Given the description of an element on the screen output the (x, y) to click on. 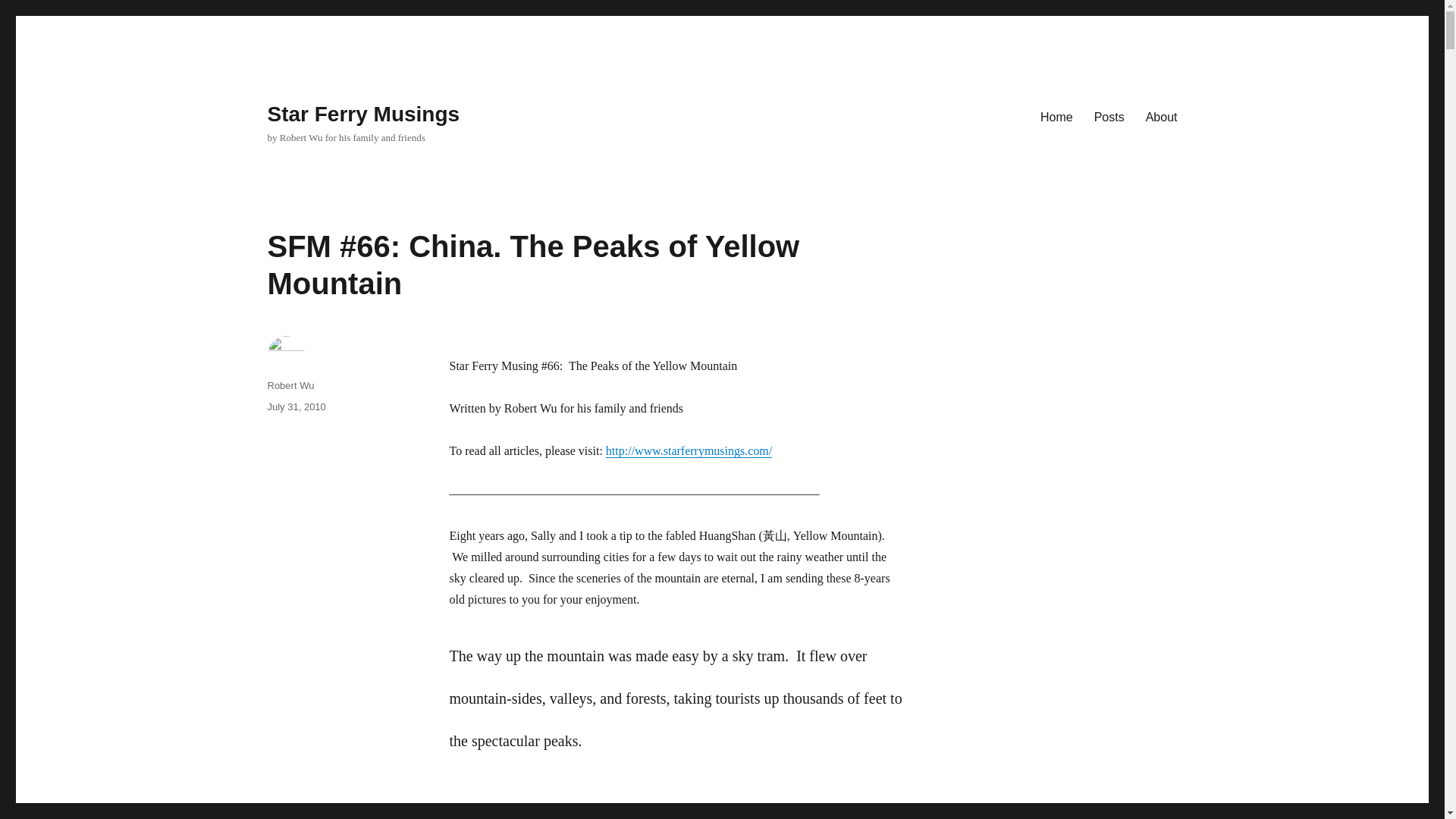
Posts (1109, 116)
Robert Wu (290, 385)
Home (1056, 116)
July 31, 2010 (295, 406)
About (1161, 116)
Star Ferry Musings (363, 114)
